Given the description of an element on the screen output the (x, y) to click on. 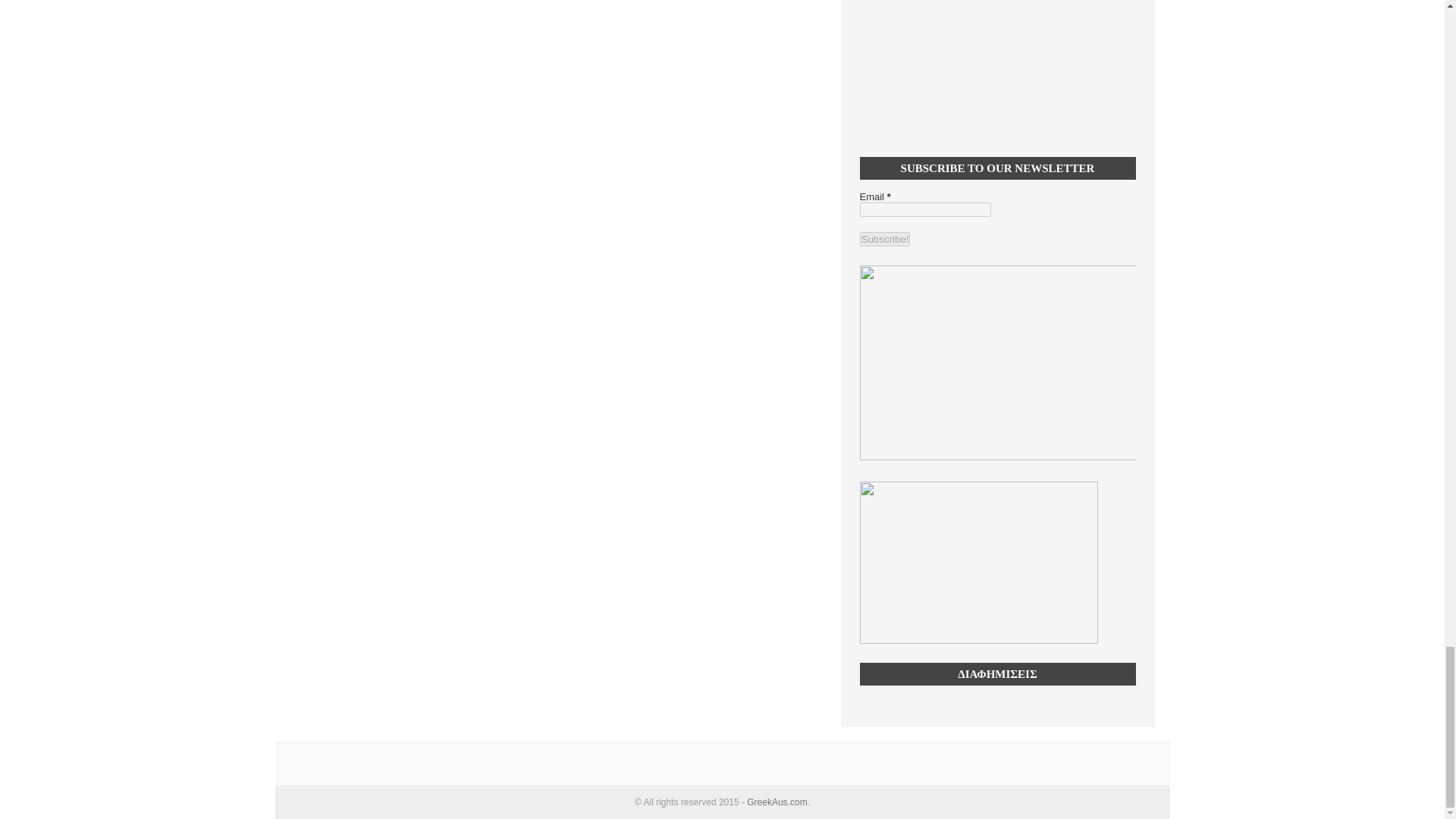
Subscribe! (885, 238)
